Given the description of an element on the screen output the (x, y) to click on. 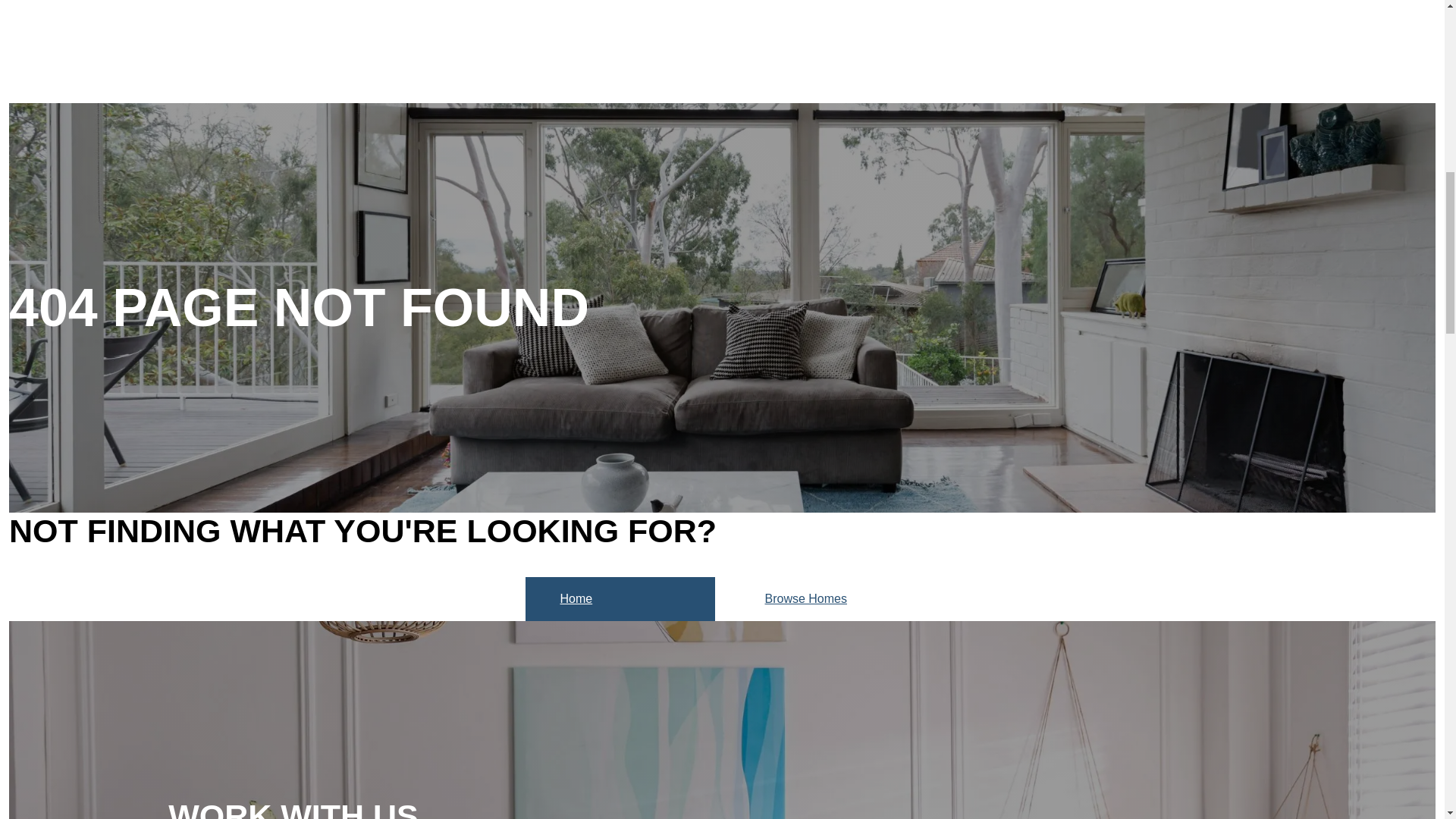
Browse Homes (823, 598)
Home (619, 598)
